Given the description of an element on the screen output the (x, y) to click on. 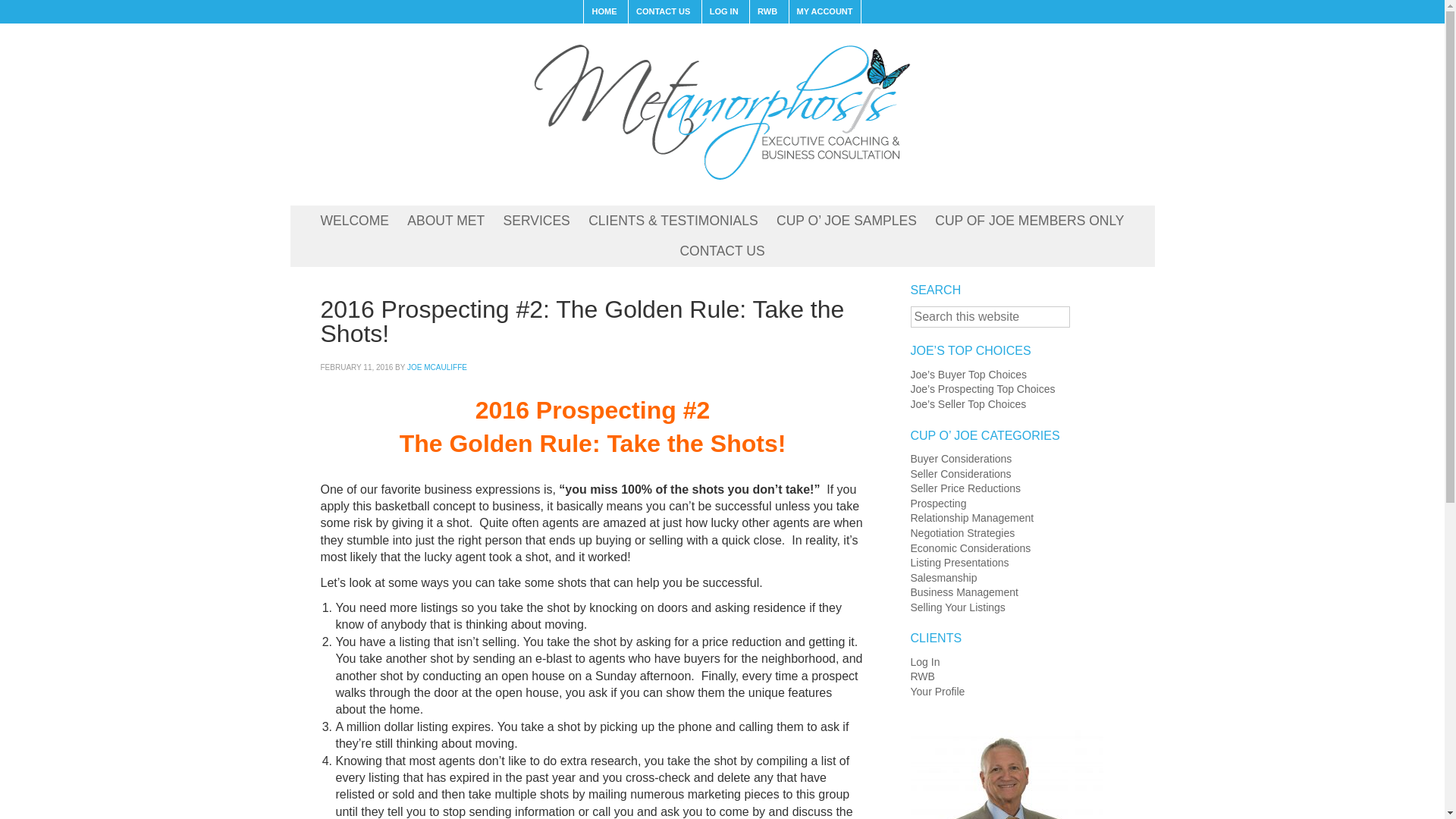
WELCOME (354, 220)
METAMORPHOSIS CONSULTING, INC. (721, 111)
RWB (766, 11)
CONTACT US (662, 11)
CUP OF JOE MEMBERS ONLY (1029, 220)
ABOUT MET (445, 220)
LOG IN (723, 11)
HOME (603, 11)
MY ACCOUNT (824, 11)
SERVICES (537, 220)
CONTACT US (721, 250)
JOE MCAULIFFE (437, 367)
